Given the description of an element on the screen output the (x, y) to click on. 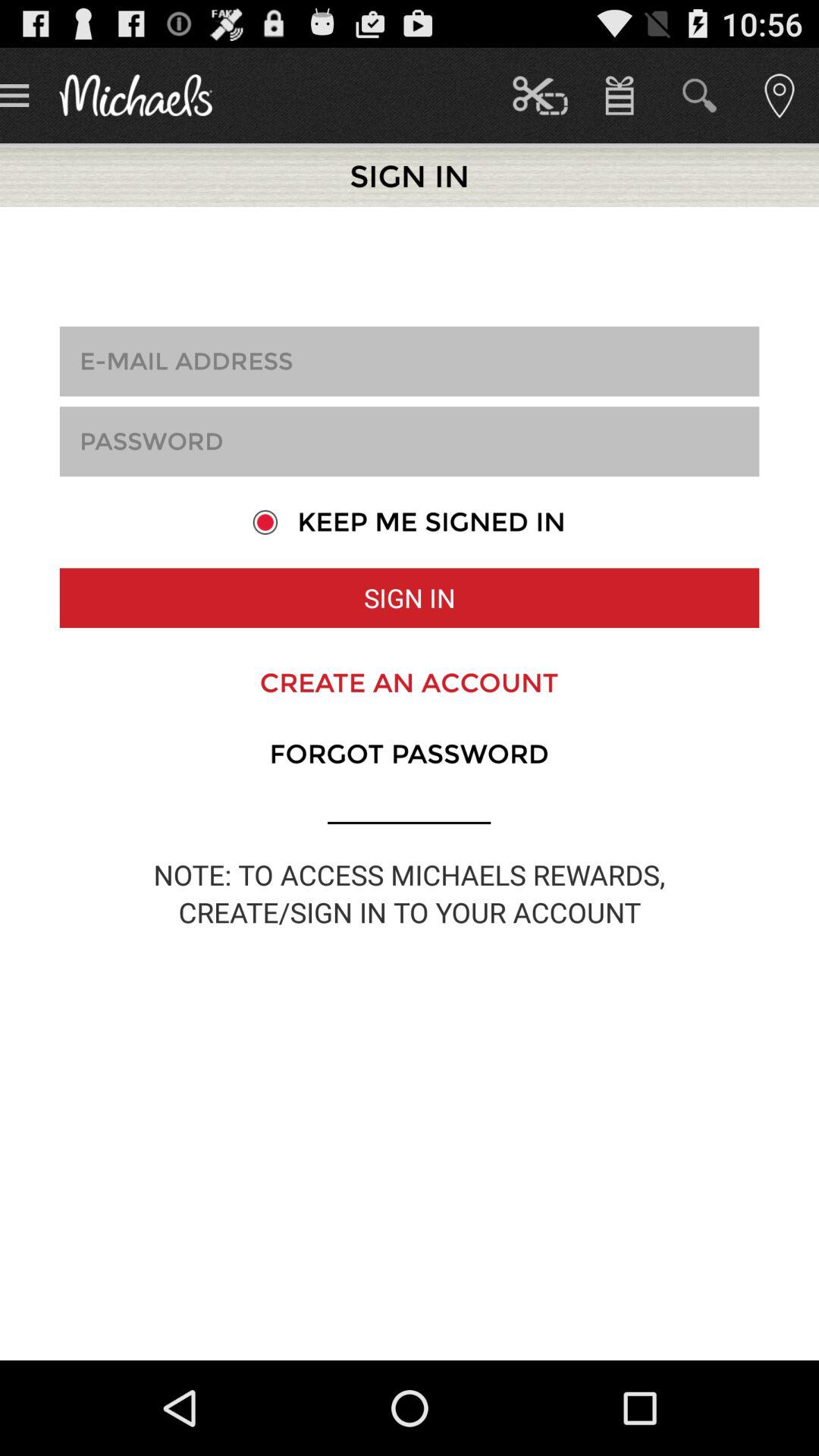
scroll to the forgot password app (408, 753)
